Given the description of an element on the screen output the (x, y) to click on. 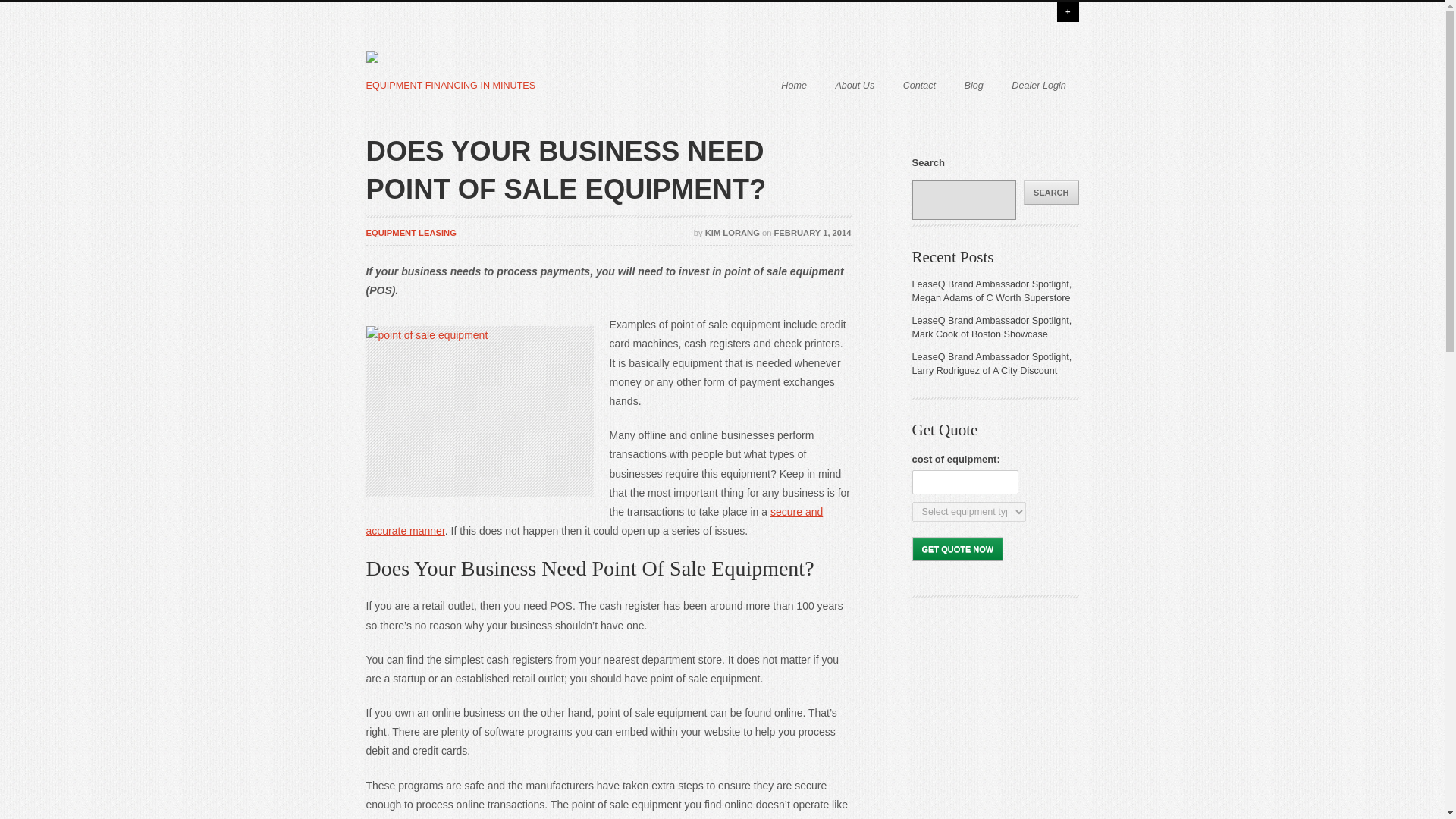
Skip to content (643, 84)
Get Quote Now (957, 549)
FEBRUARY 1, 2014 (812, 232)
7:35 am (812, 232)
SEARCH (1050, 192)
secure and accurate manner (593, 521)
KIM LORANG (732, 232)
Skip to content (643, 84)
Contact (919, 83)
